Given the description of an element on the screen output the (x, y) to click on. 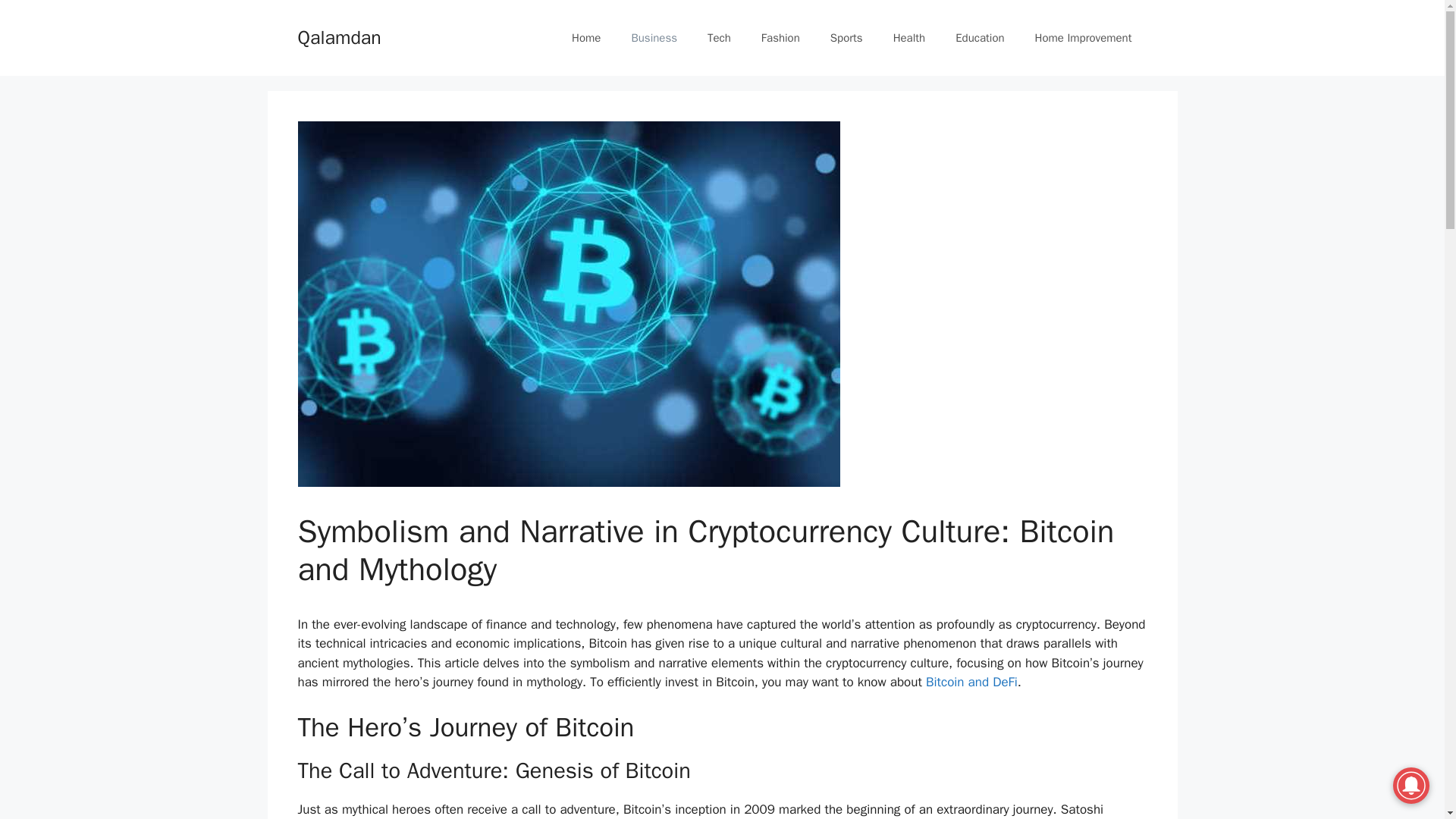
Home (585, 37)
Qalamdan (338, 37)
Education (979, 37)
Business (654, 37)
Health (908, 37)
Bitcoin and DeFi (971, 682)
Tech (719, 37)
Fashion (780, 37)
Home Improvement (1083, 37)
Sports (846, 37)
